Given the description of an element on the screen output the (x, y) to click on. 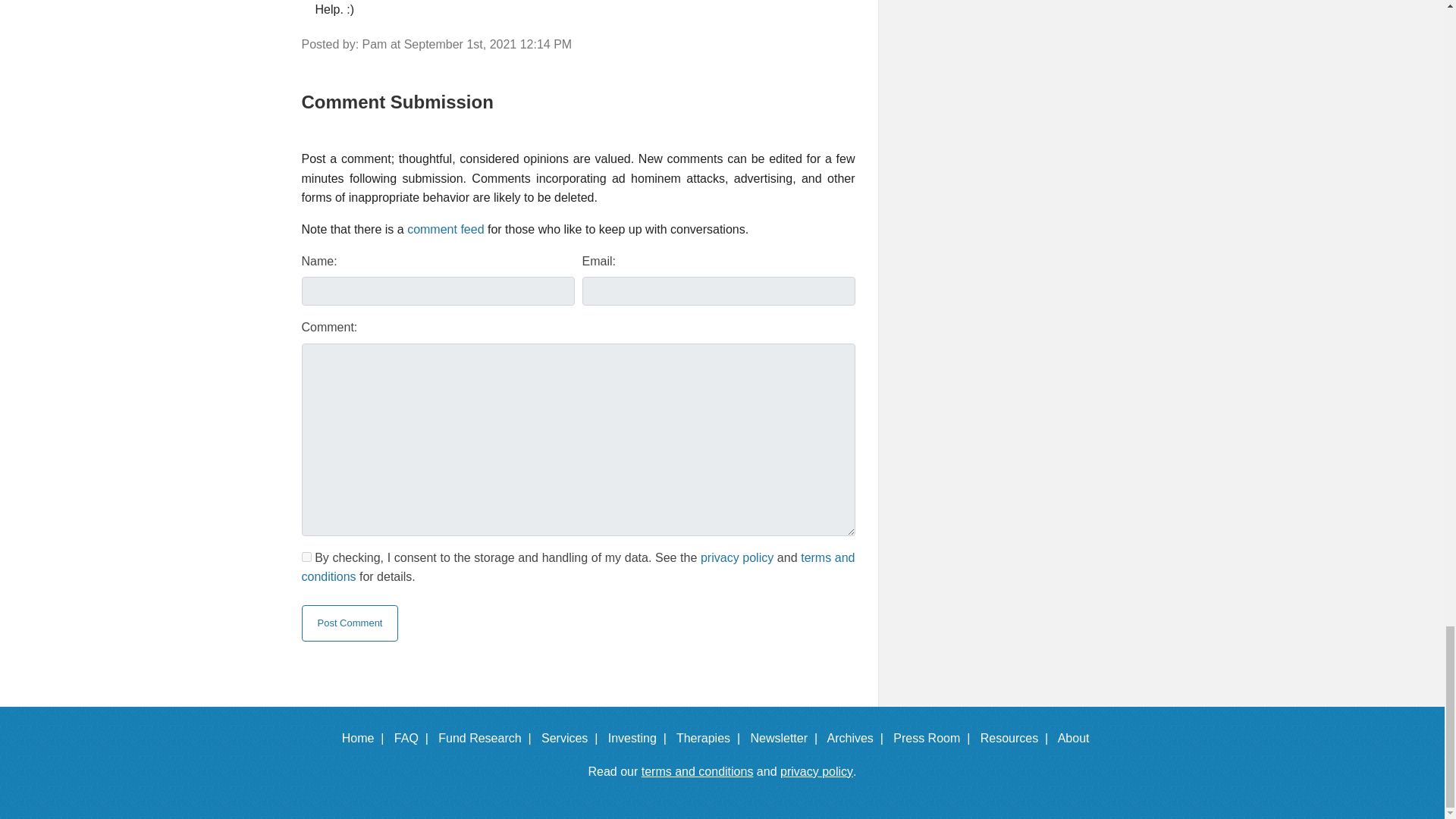
privacy policy (736, 557)
Post Comment (349, 623)
comment feed (445, 228)
1 (306, 556)
